Given the description of an element on the screen output the (x, y) to click on. 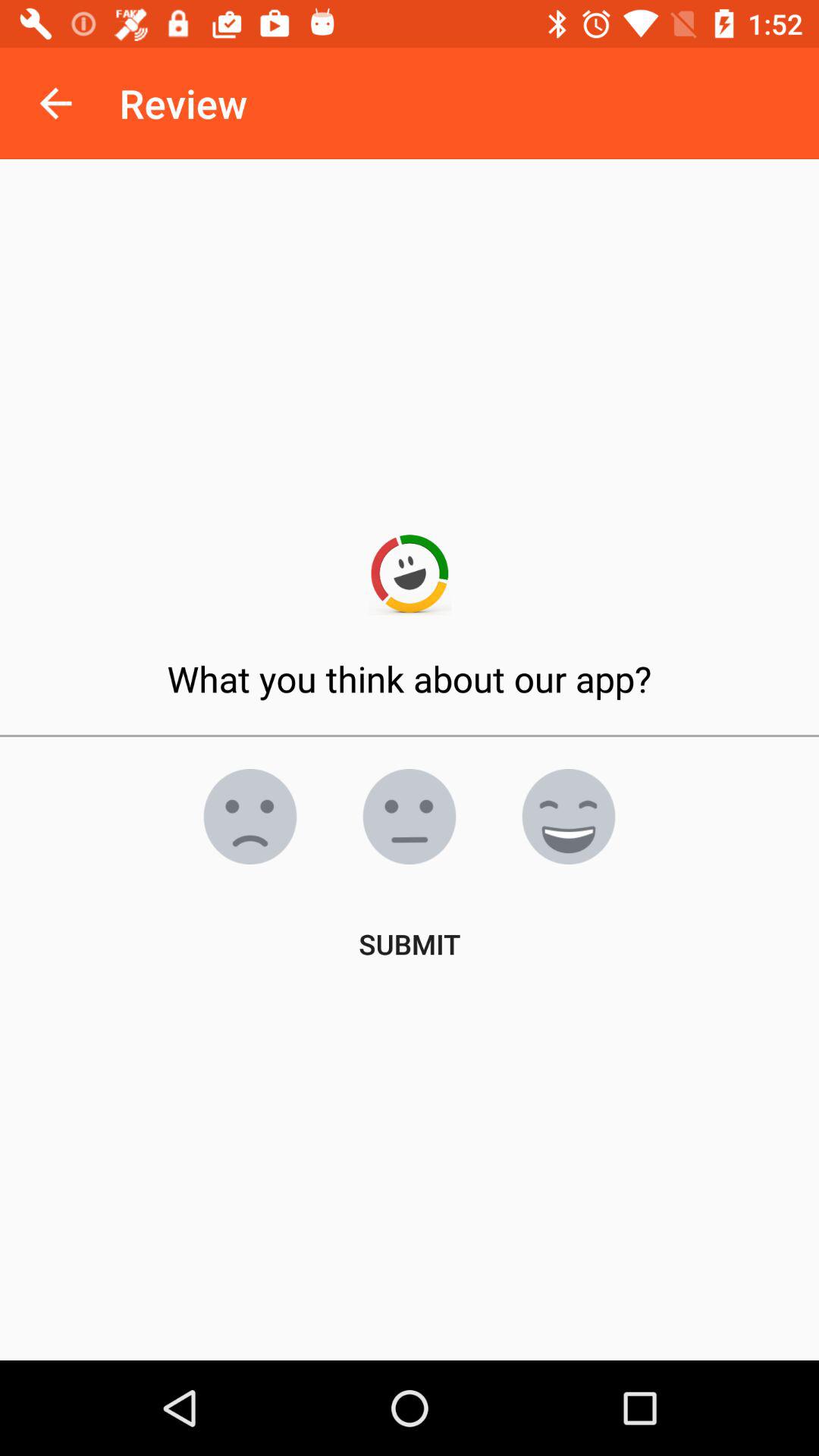
tap the submit (409, 943)
